Given the description of an element on the screen output the (x, y) to click on. 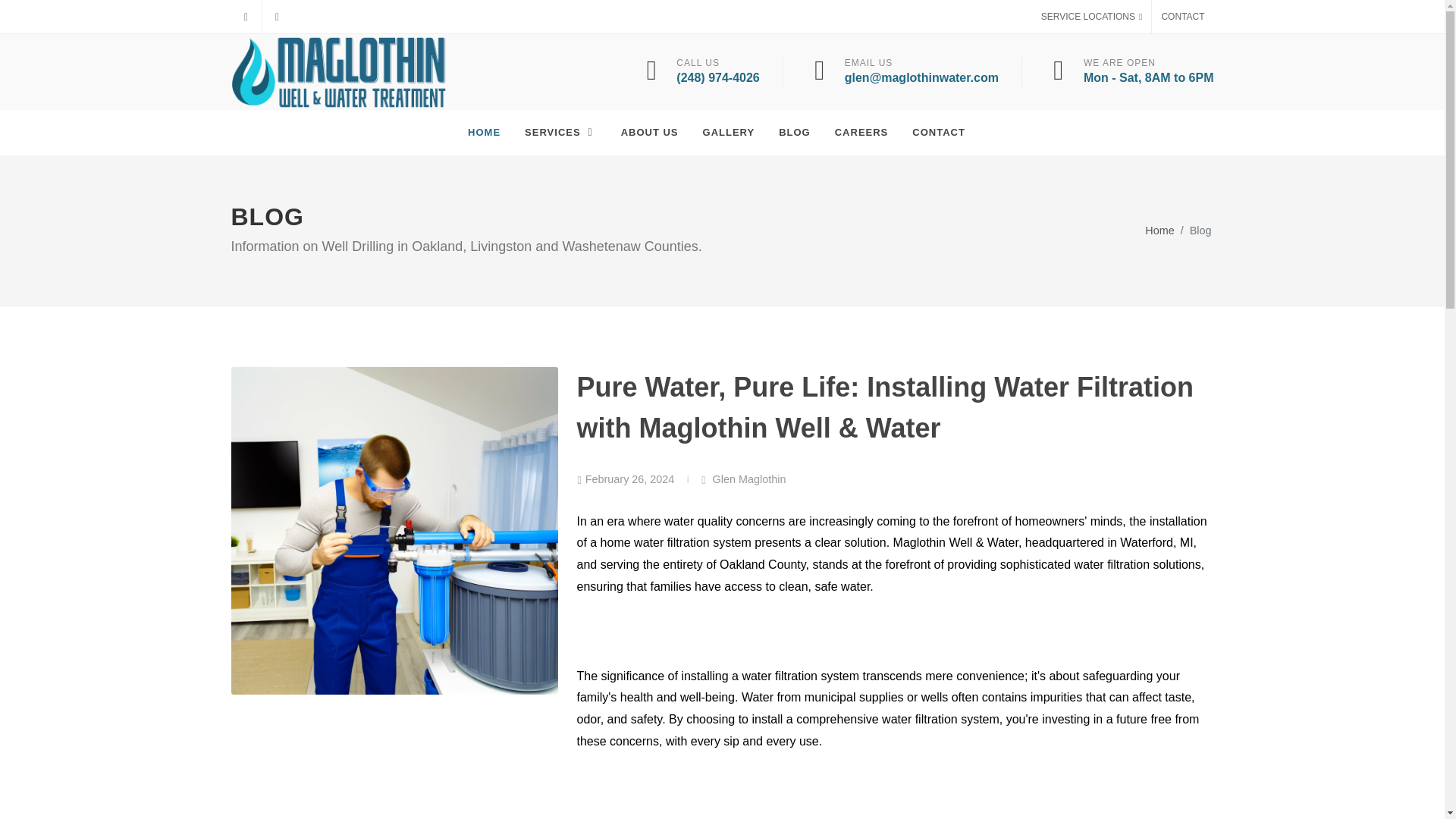
SERVICES (560, 132)
ABOUT US (650, 132)
GALLERY (729, 132)
CONTACT (938, 132)
BLOG (794, 132)
CONTACT (1181, 16)
HOME (484, 132)
CAREERS (861, 132)
Glen Maglothin (743, 479)
Home (1158, 230)
SERVICE LOCATIONS (1091, 16)
